Given the description of an element on the screen output the (x, y) to click on. 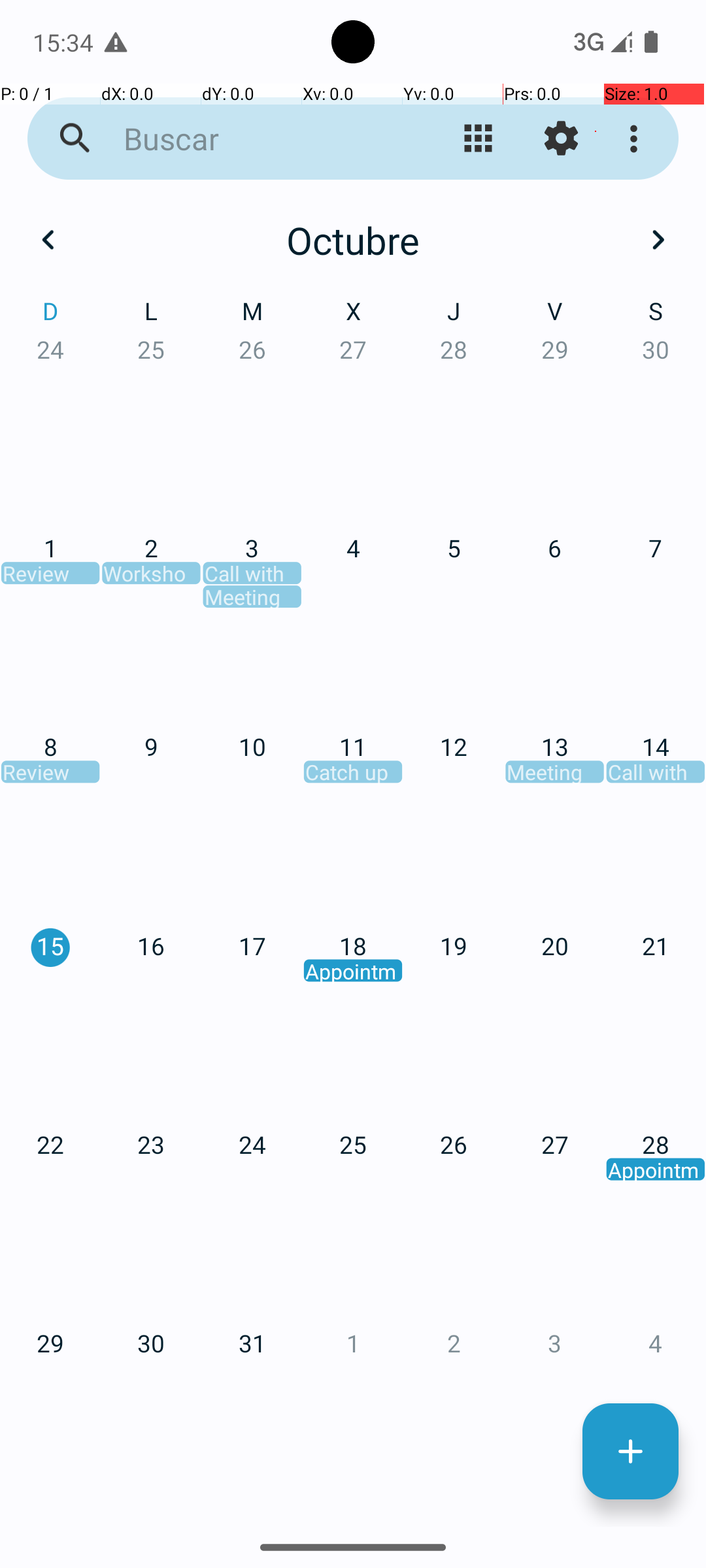
Buscar Element type: android.widget.EditText (252, 138)
Cambiar vista Element type: android.widget.Button (477, 138)
Ajustes Element type: android.widget.Button (560, 138)
Más opciones Element type: android.widget.ImageView (636, 138)
Nuevo evento Element type: android.widget.ImageButton (630, 1451)
Octubre Element type: android.widget.TextView (352, 239)
